Given the description of an element on the screen output the (x, y) to click on. 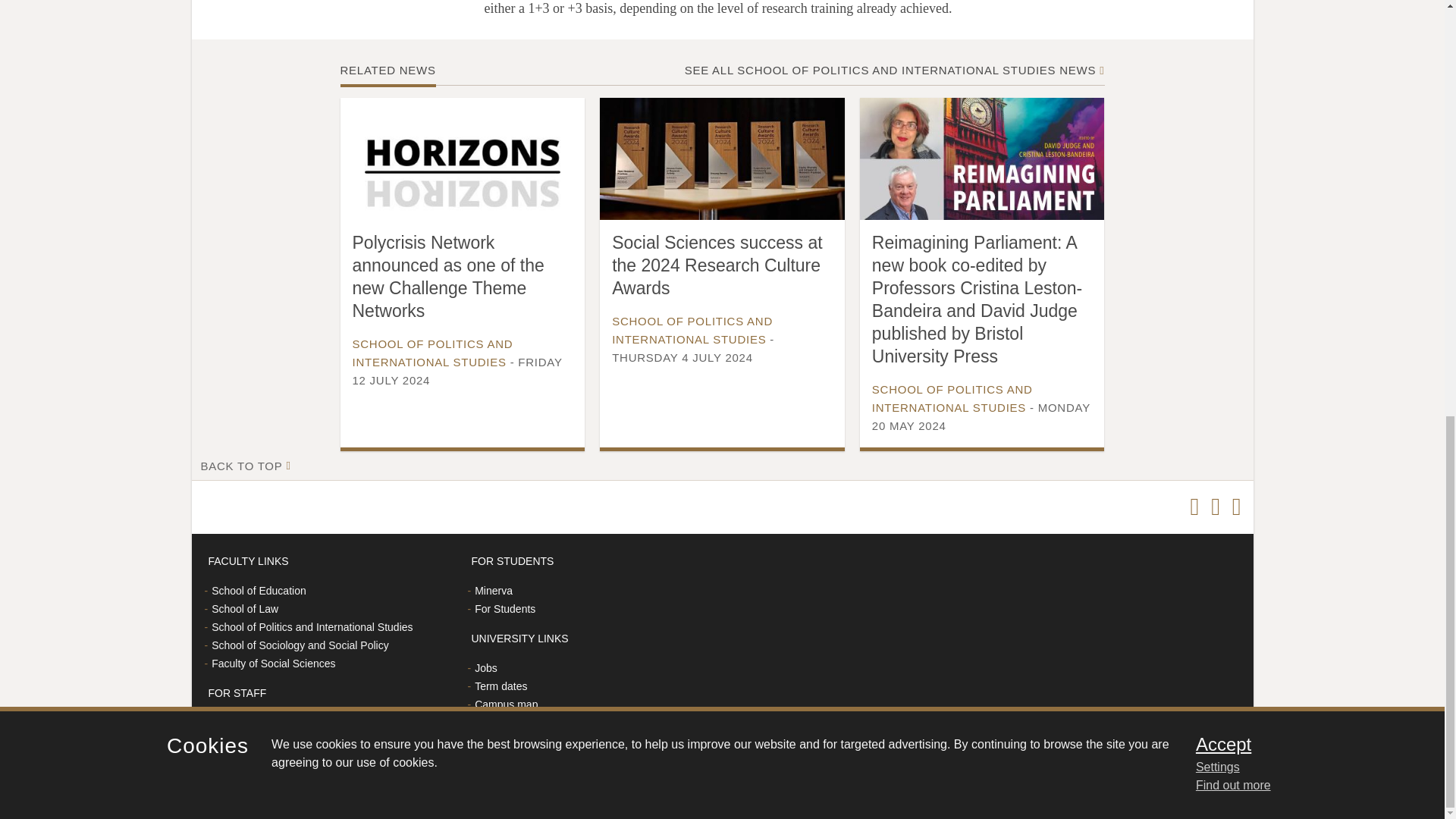
Go to Twitter page (1193, 507)
Go to Weibo page (1236, 507)
Go to Facebook page (1215, 507)
